Given the description of an element on the screen output the (x, y) to click on. 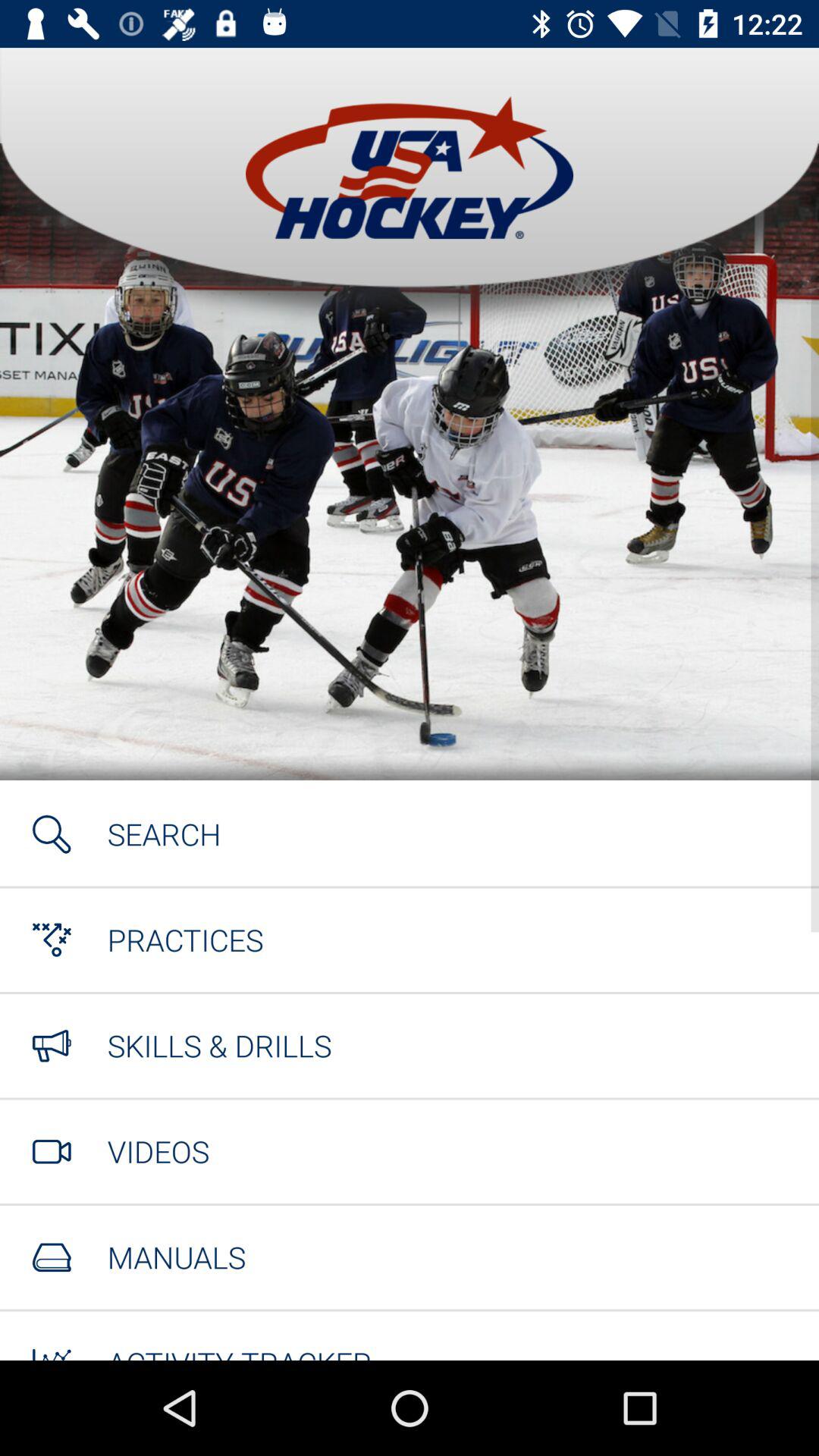
turn off item above skills & drills item (185, 939)
